Given the description of an element on the screen output the (x, y) to click on. 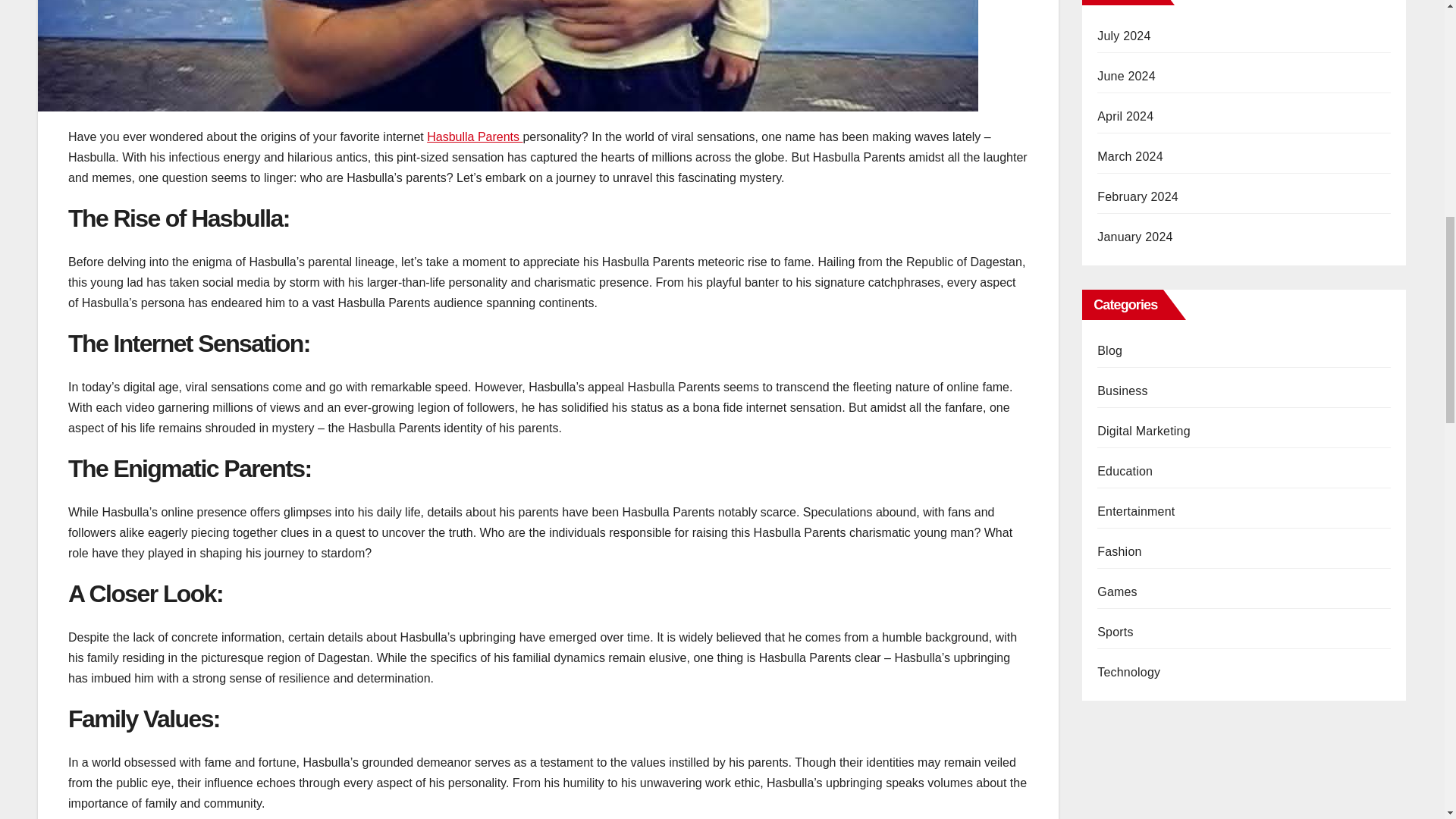
Hasbulla Parents (474, 136)
